Given the description of an element on the screen output the (x, y) to click on. 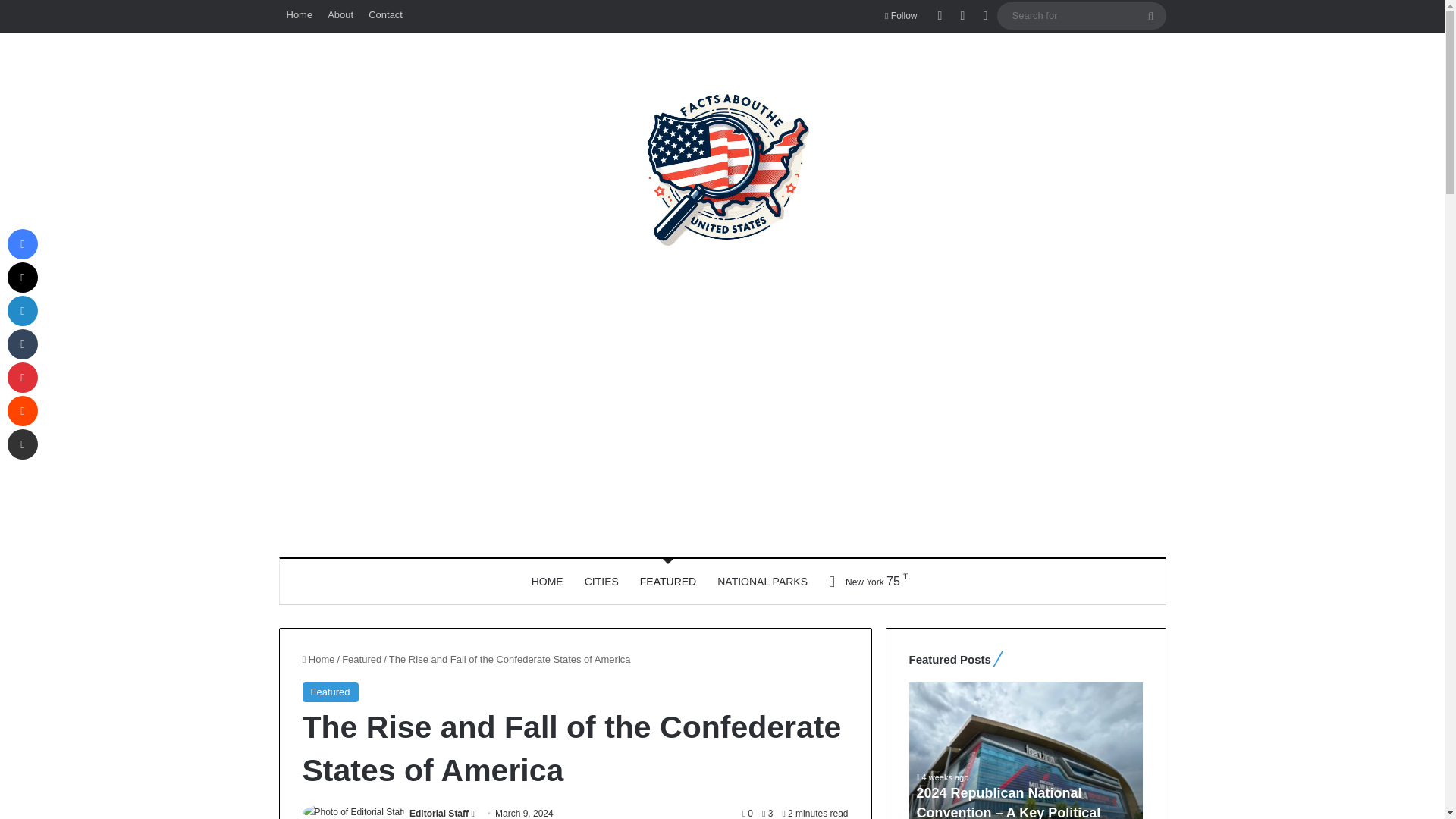
Featured (329, 691)
FEATURED (667, 581)
Follow (900, 15)
Editorial Staff (438, 813)
Facts About The United States (722, 169)
Mist (863, 580)
Search for (1080, 15)
HOME (547, 581)
Featured (361, 659)
